Given the description of an element on the screen output the (x, y) to click on. 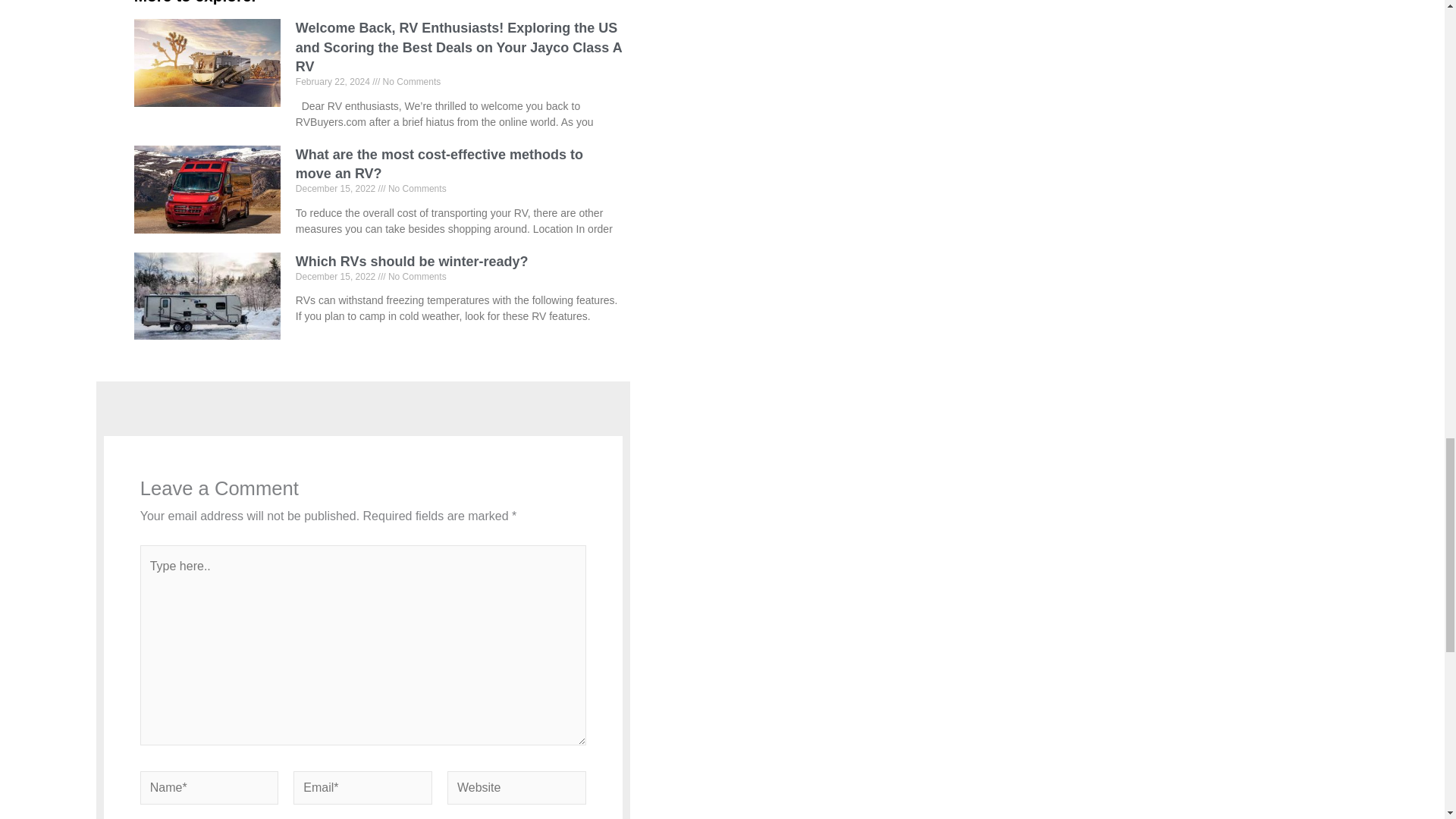
What are the most cost-effective methods to move an RV? (439, 163)
Which RVs should be winter-ready? (411, 261)
